Given the description of an element on the screen output the (x, y) to click on. 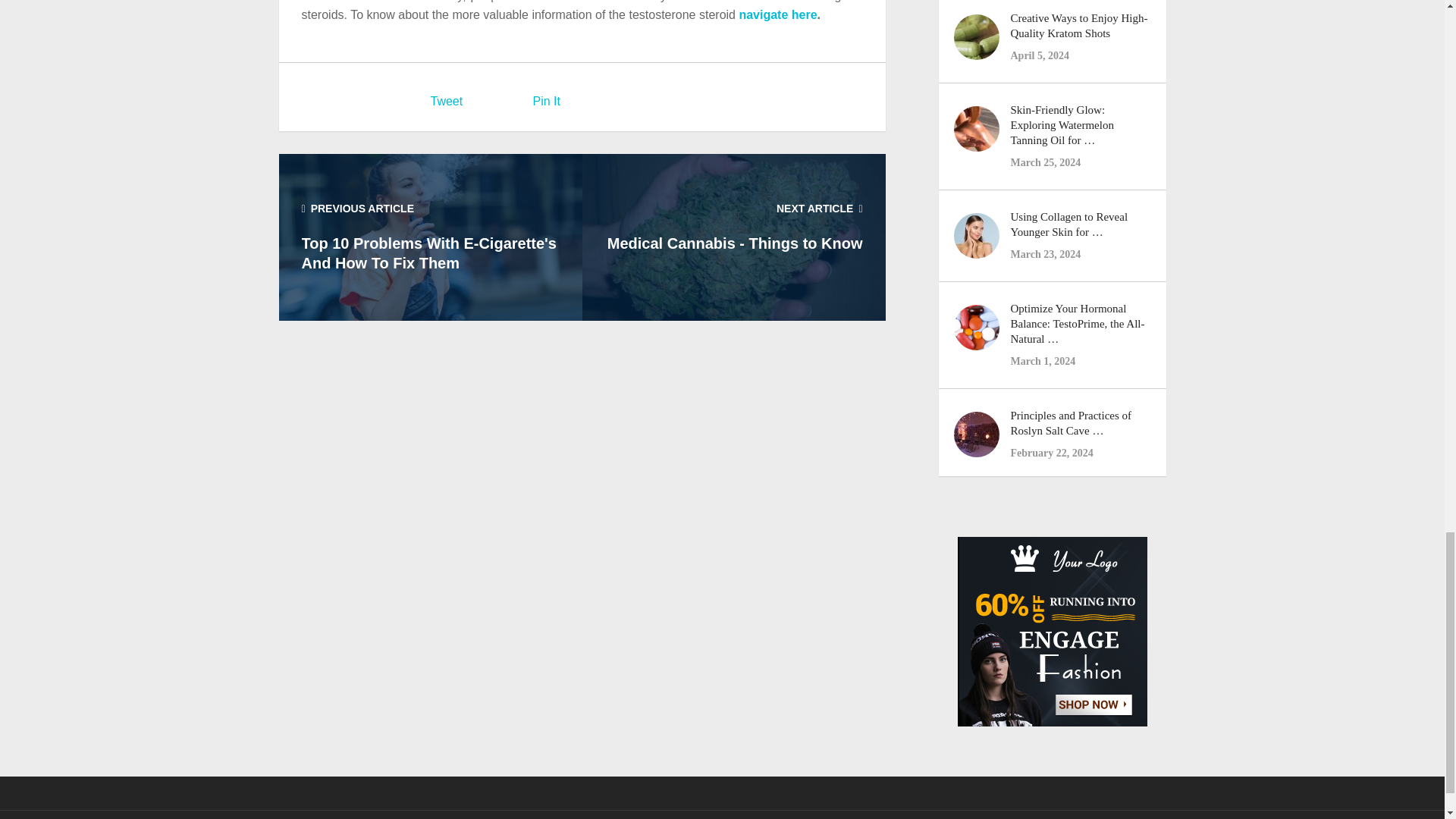
Pin It (545, 101)
Tweet (446, 101)
navigate here (777, 14)
